Given the description of an element on the screen output the (x, y) to click on. 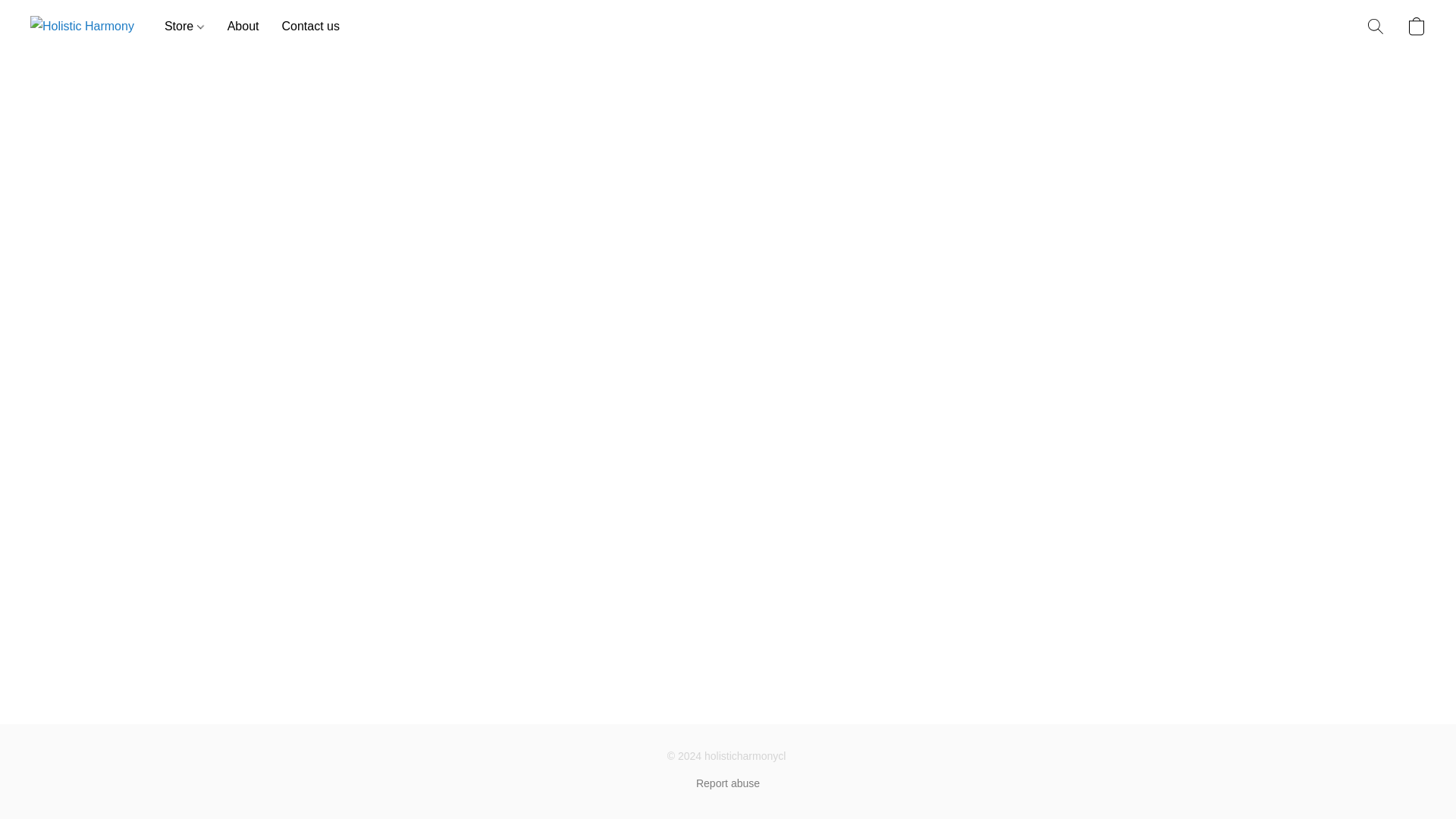
Report abuse (727, 782)
Go to your shopping cart (1416, 26)
Contact us (304, 26)
Store (189, 26)
Search the website (1375, 26)
About (242, 26)
